Given the description of an element on the screen output the (x, y) to click on. 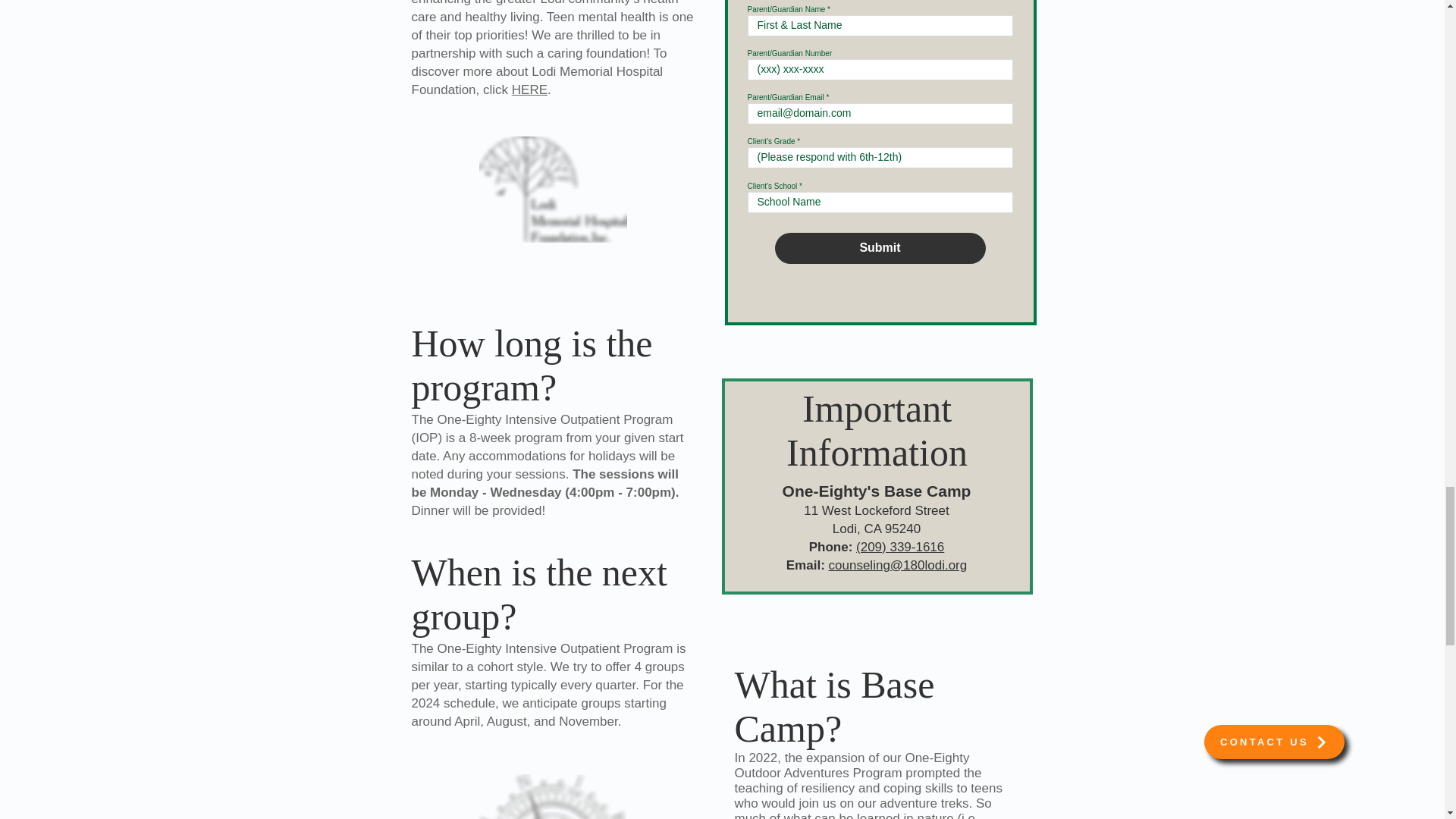
di.org (951, 564)
counseli (852, 564)
HERE (529, 89)
Submit (879, 247)
